Given the description of an element on the screen output the (x, y) to click on. 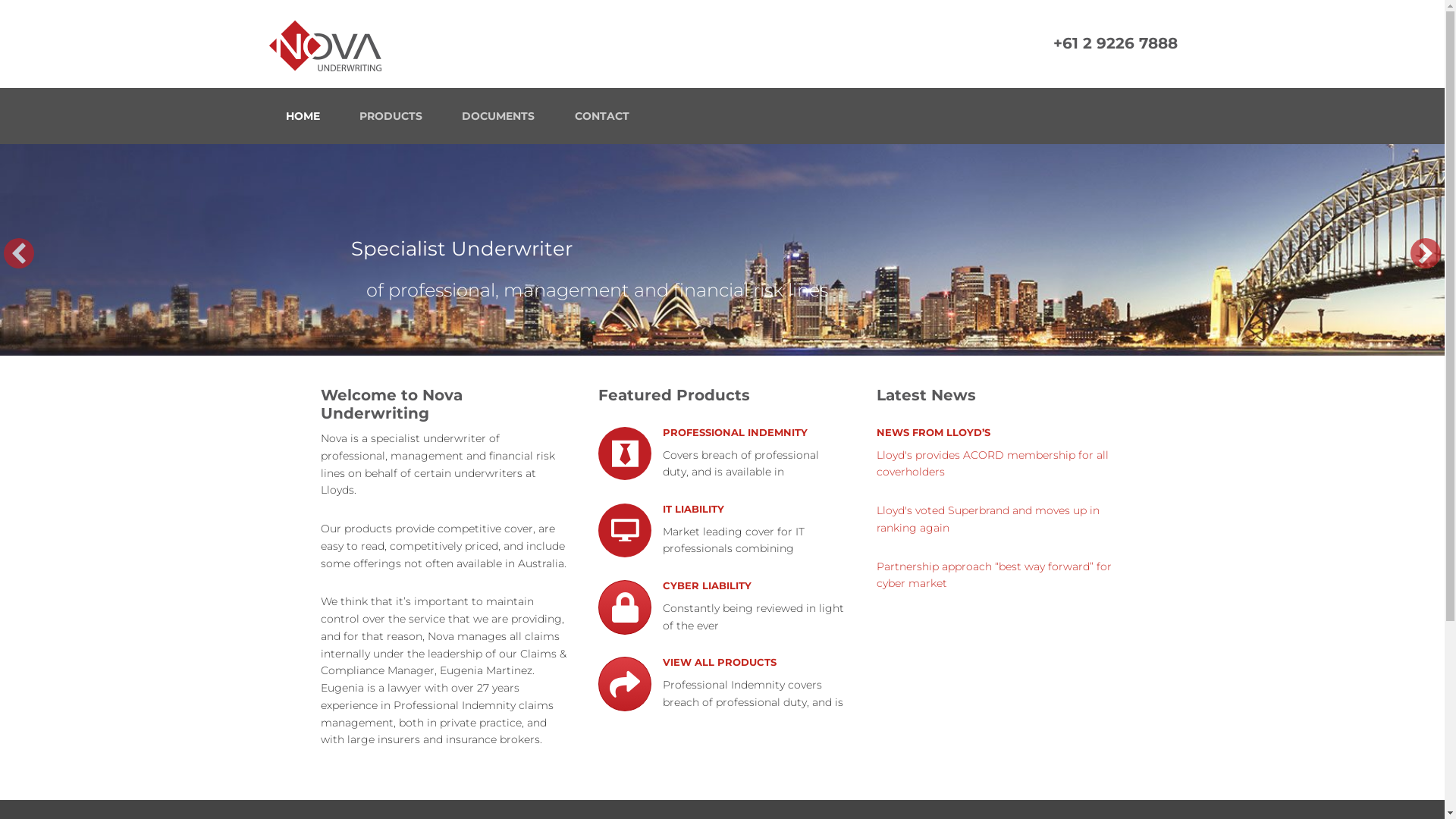
CYBER LIABILITY Element type: text (706, 588)
HOME Element type: text (301, 115)
PROFESSIONAL INDEMNITY Element type: text (734, 438)
CONTACT Element type: text (601, 115)
DOCUMENTS Element type: text (497, 115)
VIEW ALL PRODUCTS Element type: text (719, 664)
Lloyd's provides ACORD membership for all coverholders Element type: text (992, 464)
PRODUCTS Element type: text (390, 115)
Nova Underwriting Element type: text (402, 43)
IT LIABILITY Element type: text (693, 513)
Skip to primary navigation Element type: text (0, 0)
Lloyd's voted Superbrand and moves up in ranking again Element type: text (987, 519)
